Given the description of an element on the screen output the (x, y) to click on. 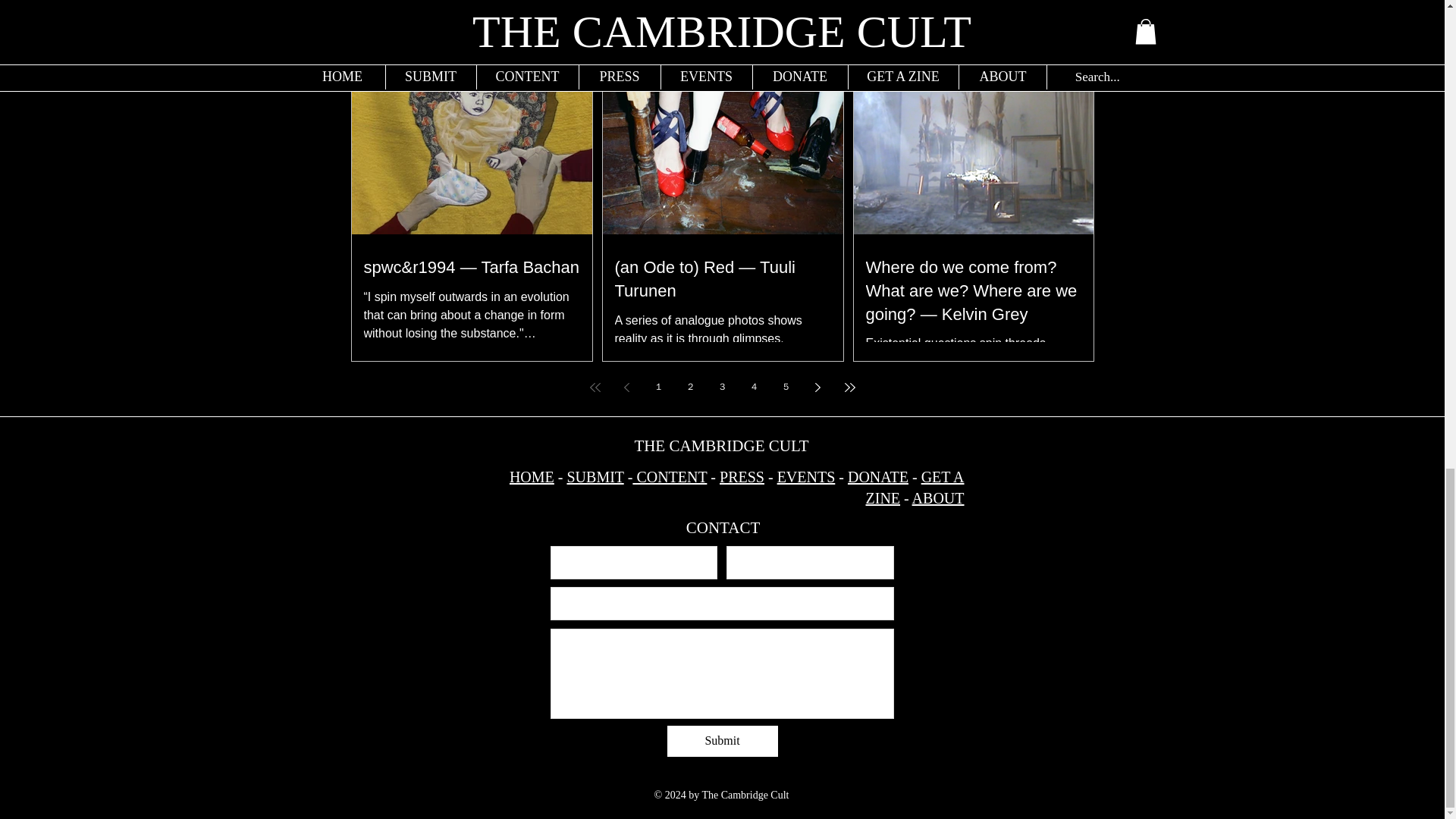
HOME (531, 476)
5 (785, 387)
4 (753, 387)
 CONTENT (668, 476)
3 (721, 387)
2 (690, 387)
PRESS (741, 476)
DONATE (877, 476)
ABOUT (937, 497)
THE CAMBRIDGE CULT (720, 445)
